Given the description of an element on the screen output the (x, y) to click on. 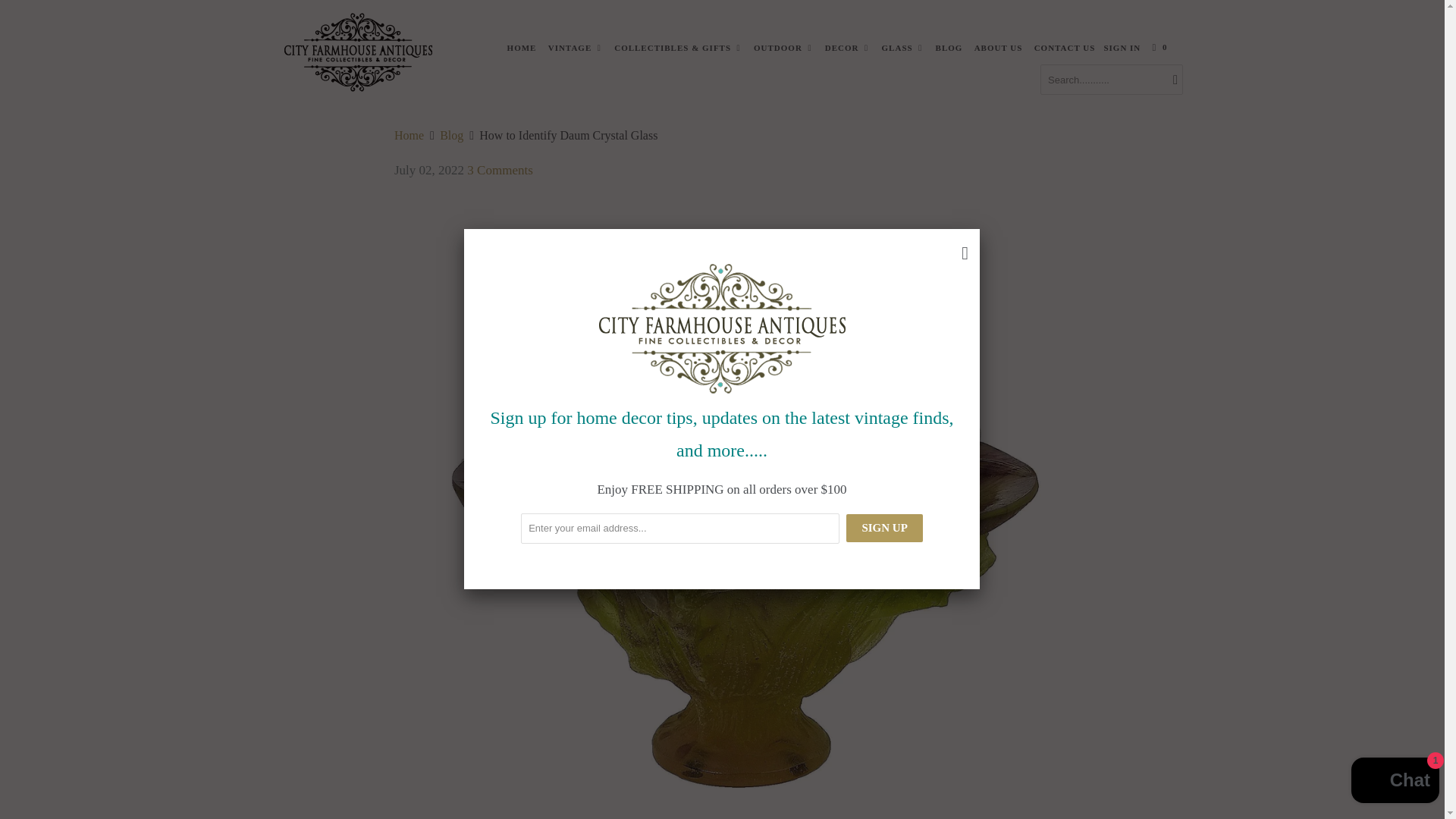
City Farmhouse Antiques (358, 44)
Sign Up (883, 528)
Blog (451, 134)
My Account  (1121, 38)
City Farmhouse Antiques (408, 134)
